Given the description of an element on the screen output the (x, y) to click on. 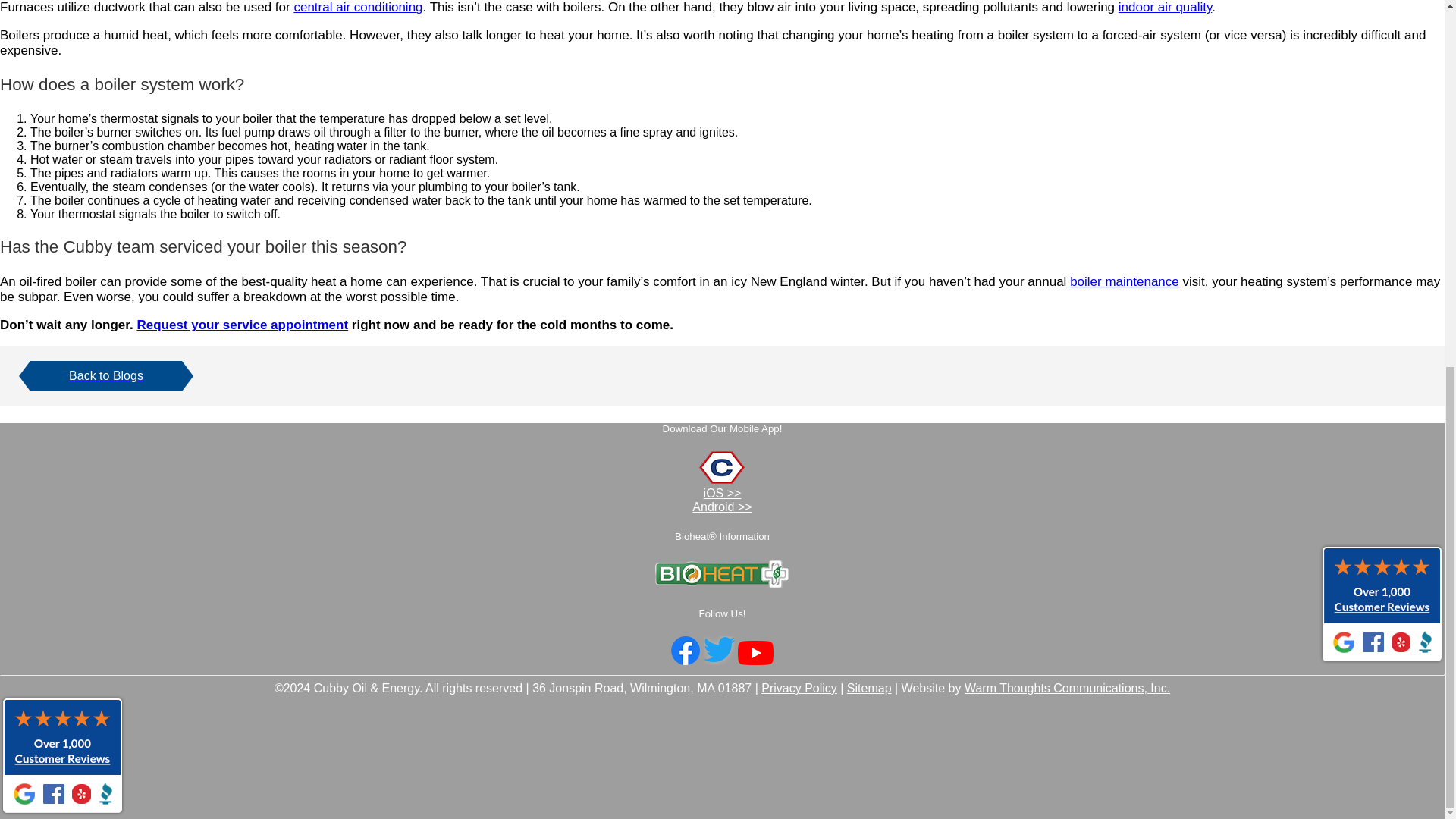
request service (241, 324)
boiler repair (1124, 281)
bioheat (722, 584)
central air conditioning (358, 7)
indoor air quality (1164, 7)
